Given the description of an element on the screen output the (x, y) to click on. 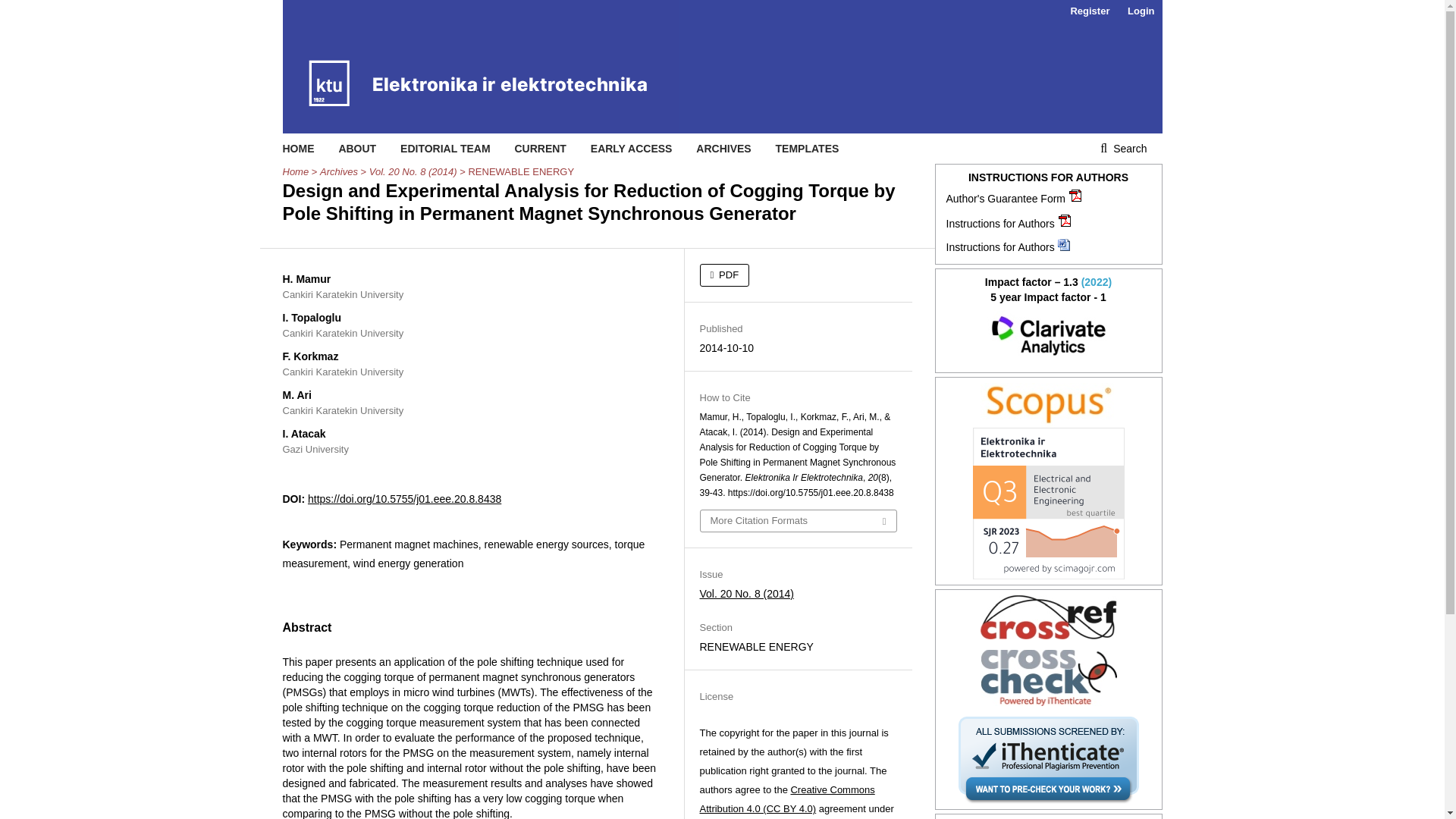
TEMPLATES (808, 148)
Home (295, 171)
CURRENT (539, 148)
Journal: Elektronika Ir Elektrotechnika (1048, 405)
PDF (723, 274)
Archives (339, 171)
HOME (298, 148)
More Citation Formats (798, 520)
ARCHIVES (723, 148)
Login (1140, 11)
